Given the description of an element on the screen output the (x, y) to click on. 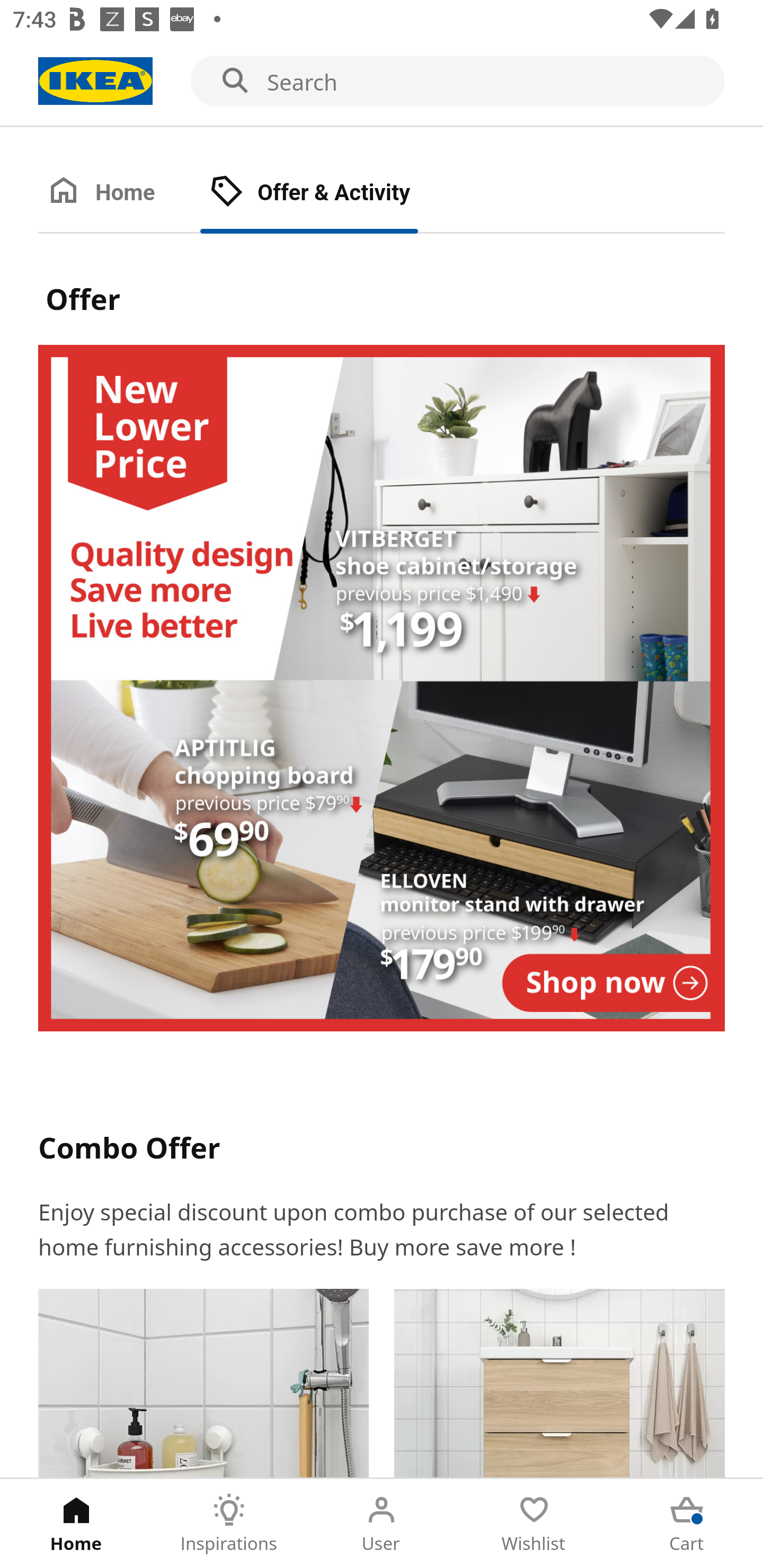
Search (381, 81)
Home
Tab 1 of 2 (118, 192)
Offer & Activity
Tab 2 of 2 (327, 192)
Home
Tab 1 of 5 (76, 1522)
Inspirations
Tab 2 of 5 (228, 1522)
User
Tab 3 of 5 (381, 1522)
Wishlist
Tab 4 of 5 (533, 1522)
Cart
Tab 5 of 5 (686, 1522)
